Given the description of an element on the screen output the (x, y) to click on. 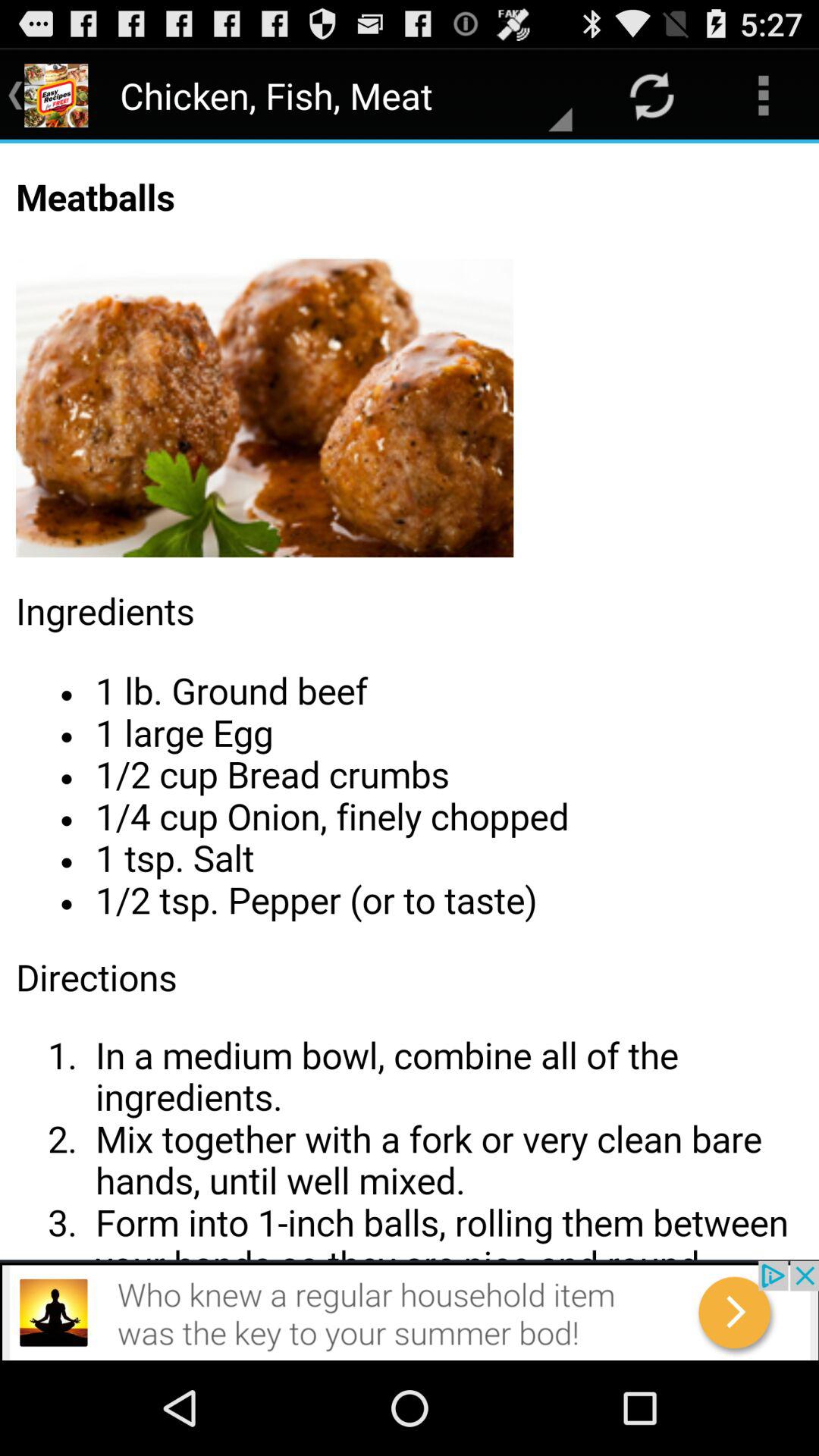
view advertisement (409, 1310)
